Given the description of an element on the screen output the (x, y) to click on. 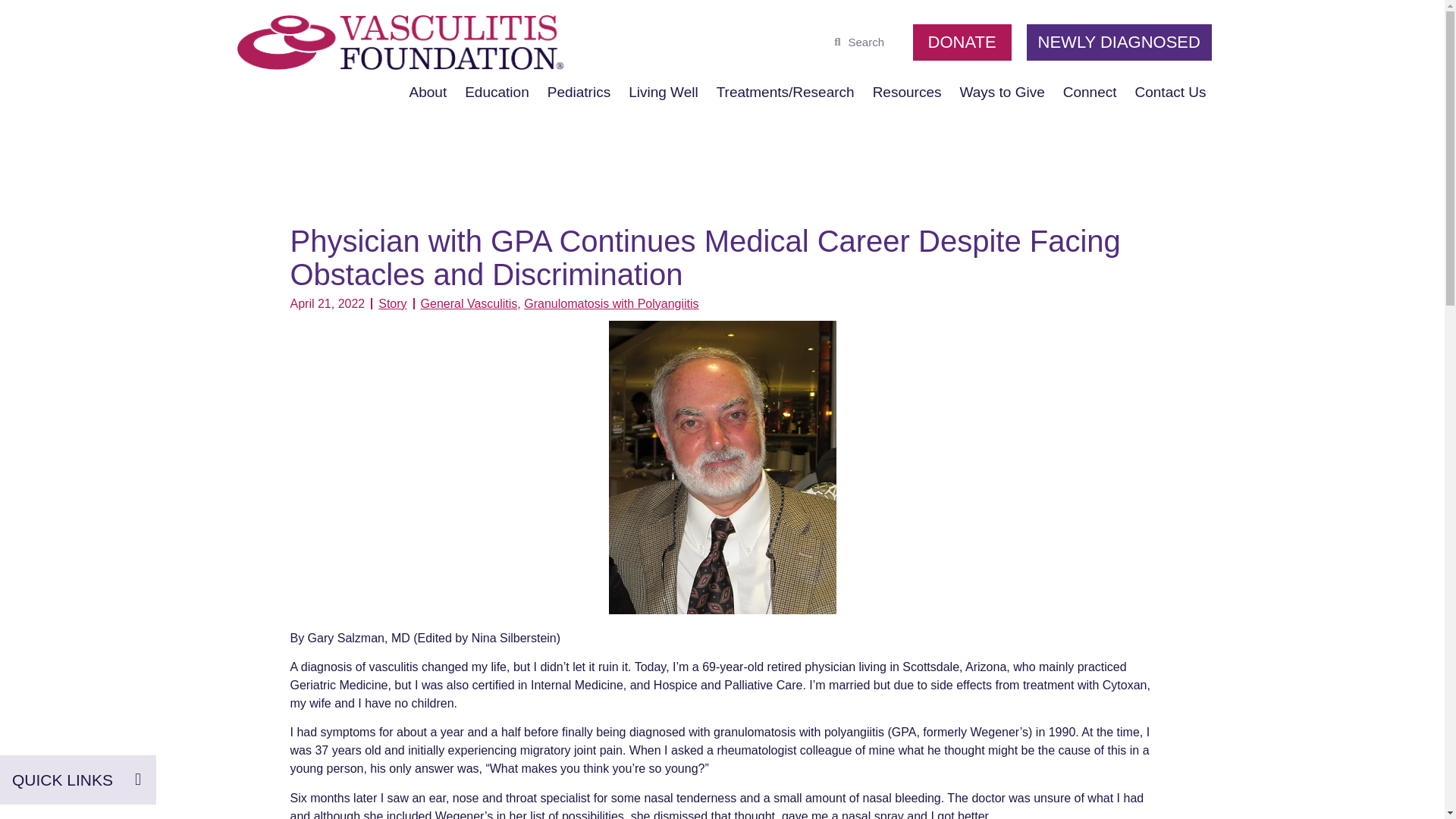
Education (496, 91)
DONATE (961, 42)
NEWLY DIAGNOSED (1118, 42)
About (428, 91)
